Given the description of an element on the screen output the (x, y) to click on. 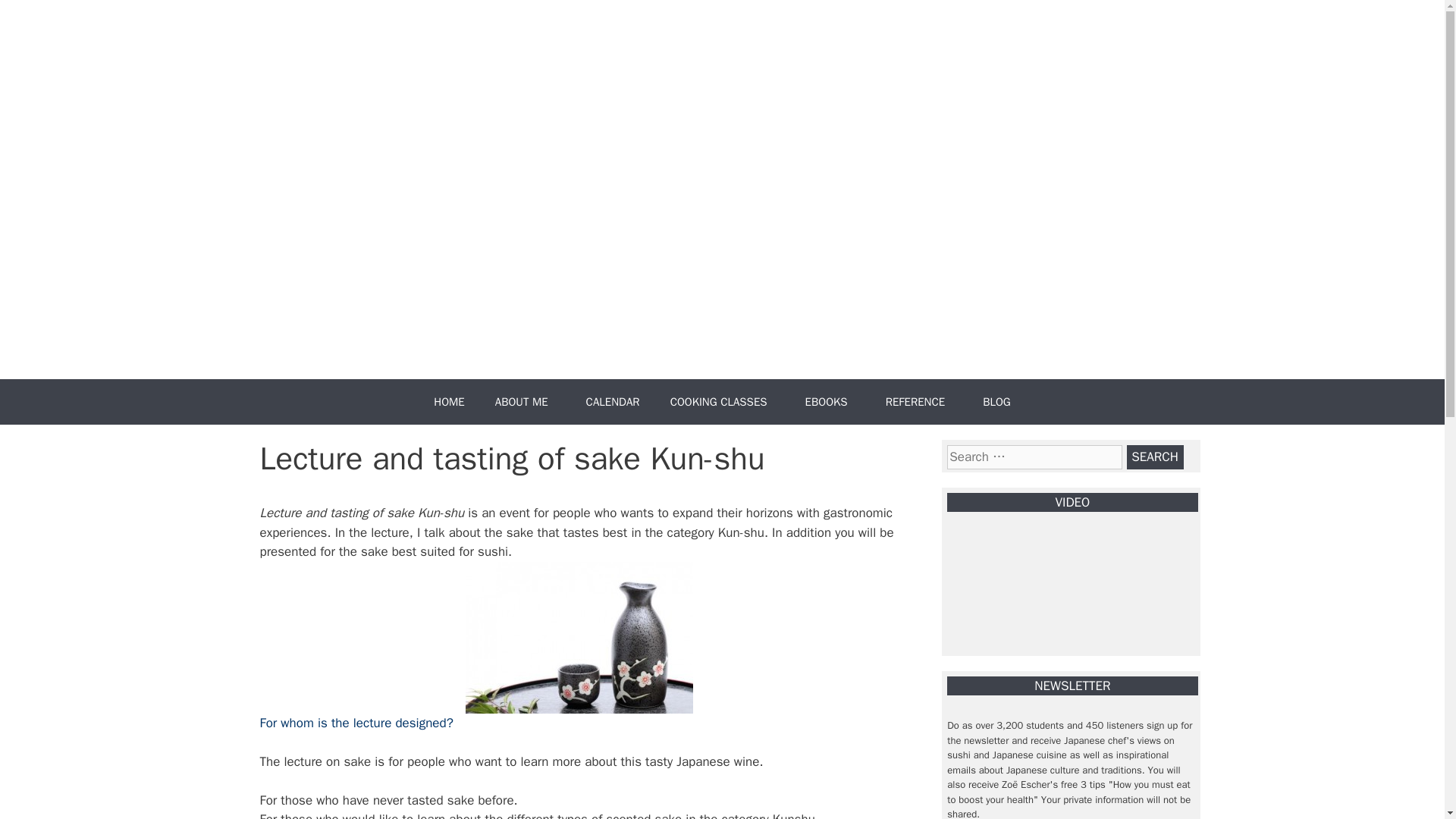
HOME (449, 402)
CALENDAR (612, 402)
BLOG (997, 402)
ABOUT ME (525, 402)
Search for: (1034, 457)
Search (1154, 457)
Search (1154, 457)
EBOOKS (830, 402)
Search (1154, 457)
REFERENCE (919, 402)
